Given the description of an element on the screen output the (x, y) to click on. 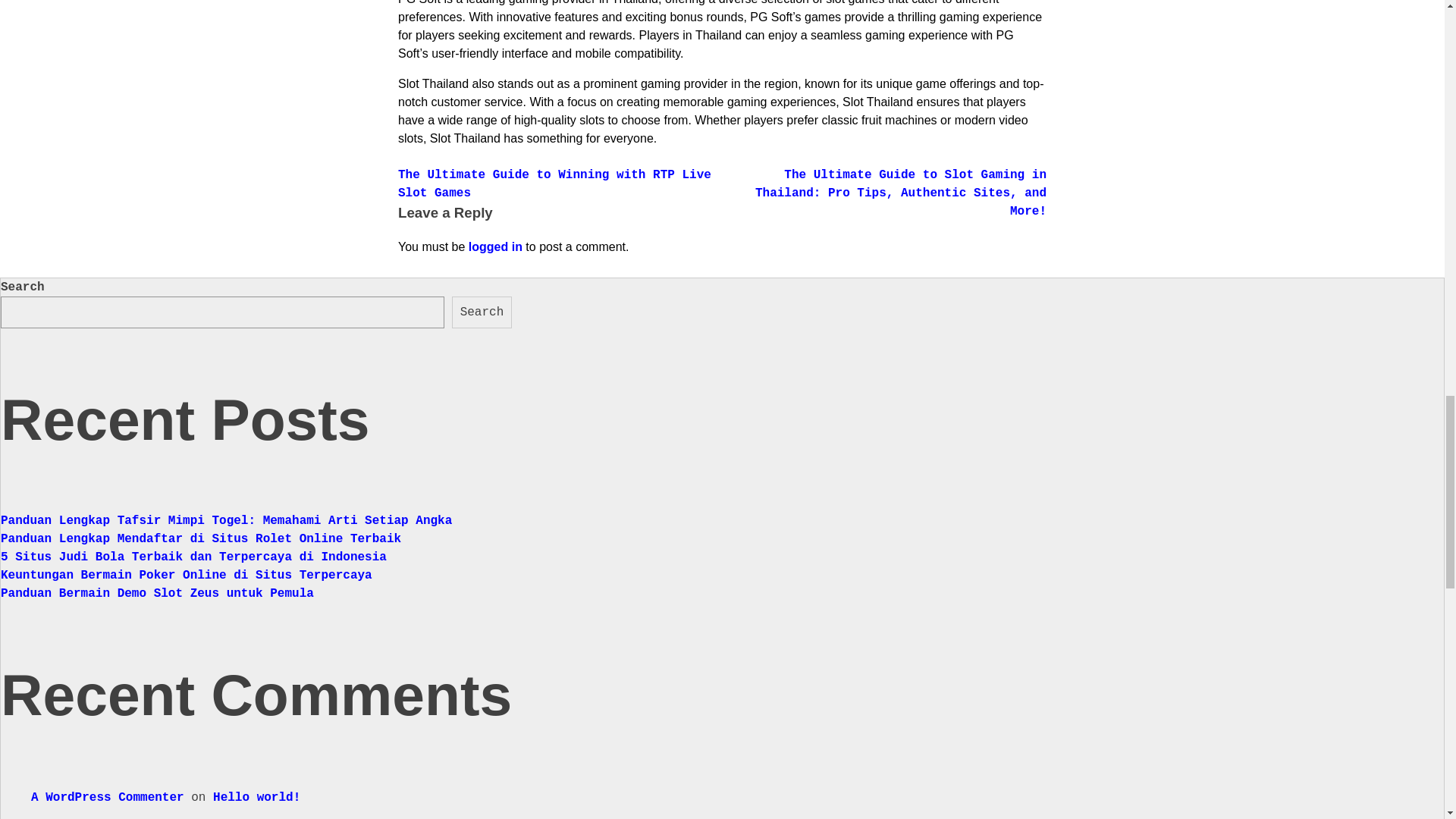
logged in (495, 246)
Search (481, 312)
5 Situs Judi Bola Terbaik dan Terpercaya di Indonesia (194, 557)
Hello world! (255, 797)
The Ultimate Guide to Winning with RTP Live Slot Games (554, 183)
Panduan Lengkap Mendaftar di Situs Rolet Online Terbaik (201, 539)
A WordPress Commenter (107, 797)
Panduan Bermain Demo Slot Zeus untuk Pemula (157, 593)
